Given the description of an element on the screen output the (x, y) to click on. 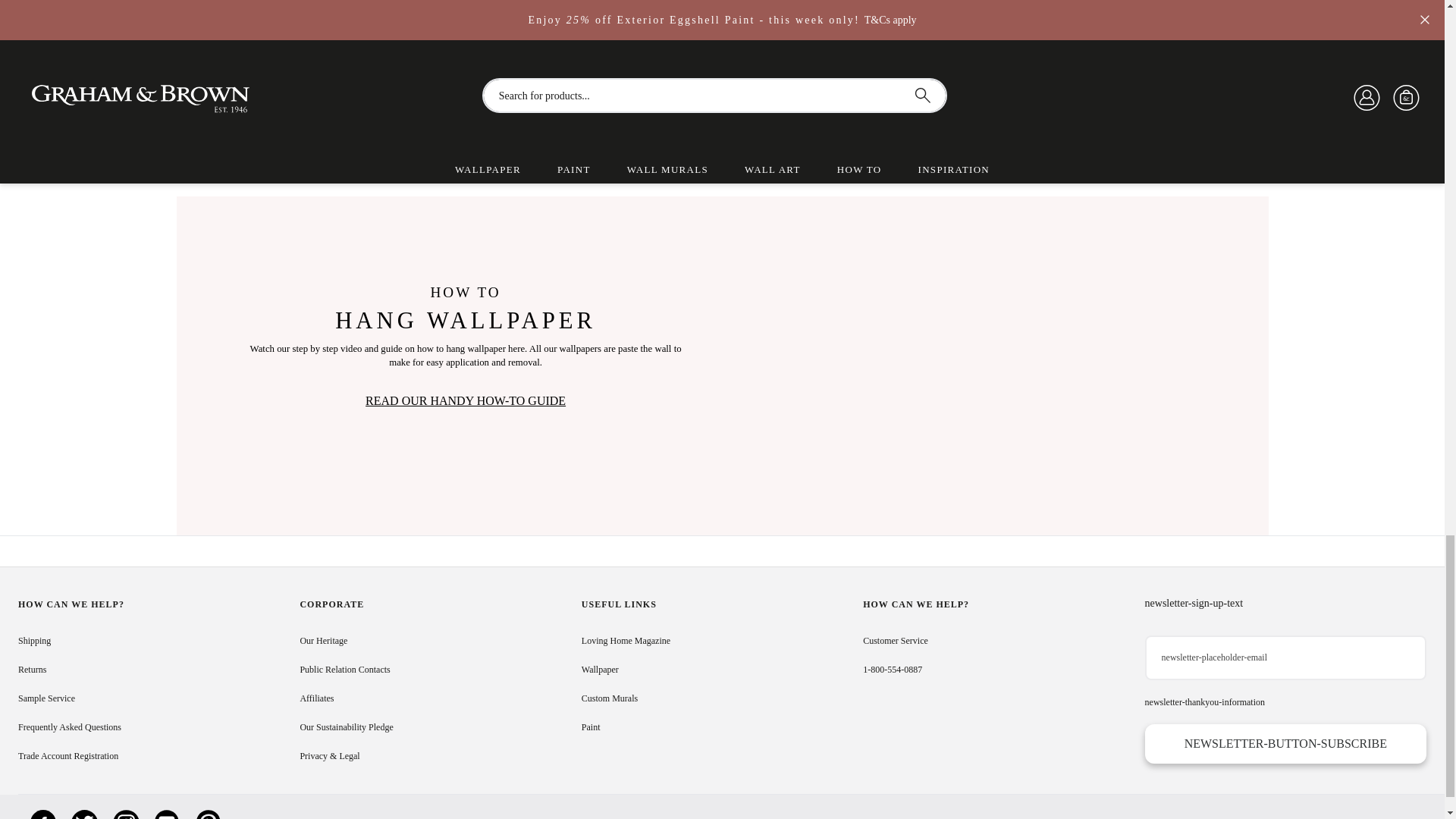
Sample Service (46, 697)
Trade Account Registration (67, 756)
Frequently Asked Questions (68, 726)
Shipping (33, 640)
Returns (31, 669)
